Given the description of an element on the screen output the (x, y) to click on. 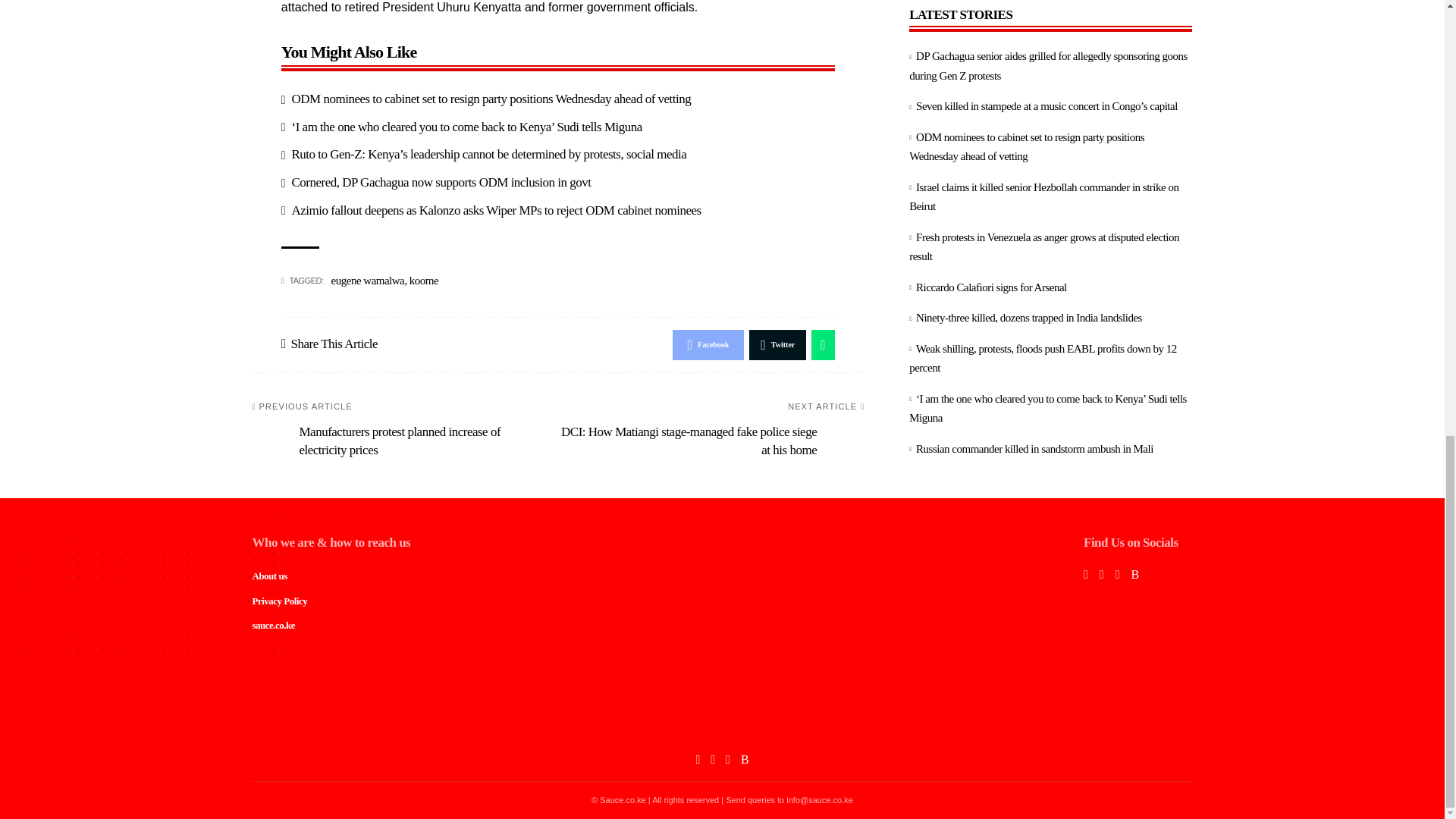
sauce.co.ke (721, 722)
